Given the description of an element on the screen output the (x, y) to click on. 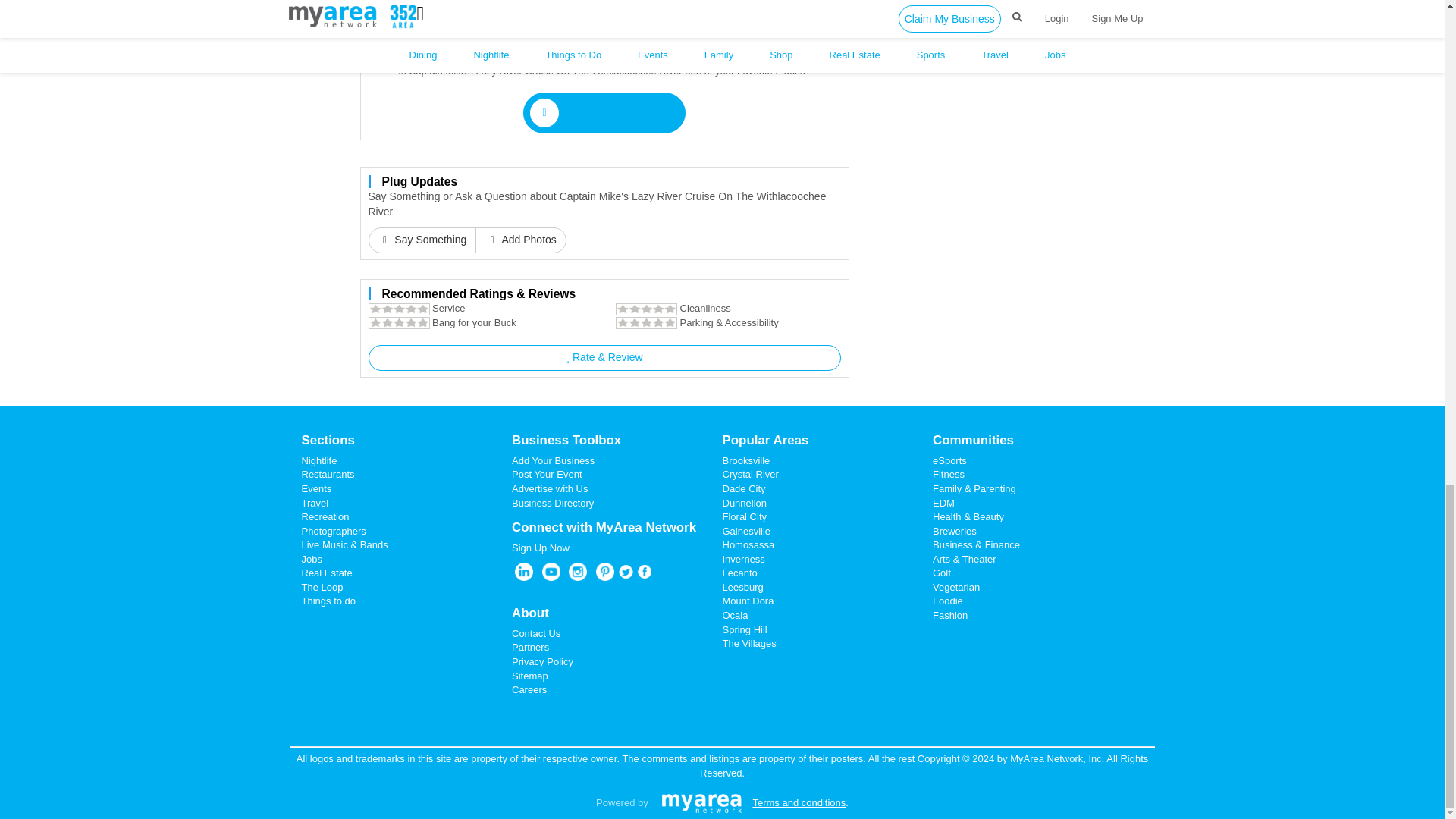
Add Photos (521, 240)
Add to My Connections (603, 112)
Say Something (422, 240)
